Given the description of an element on the screen output the (x, y) to click on. 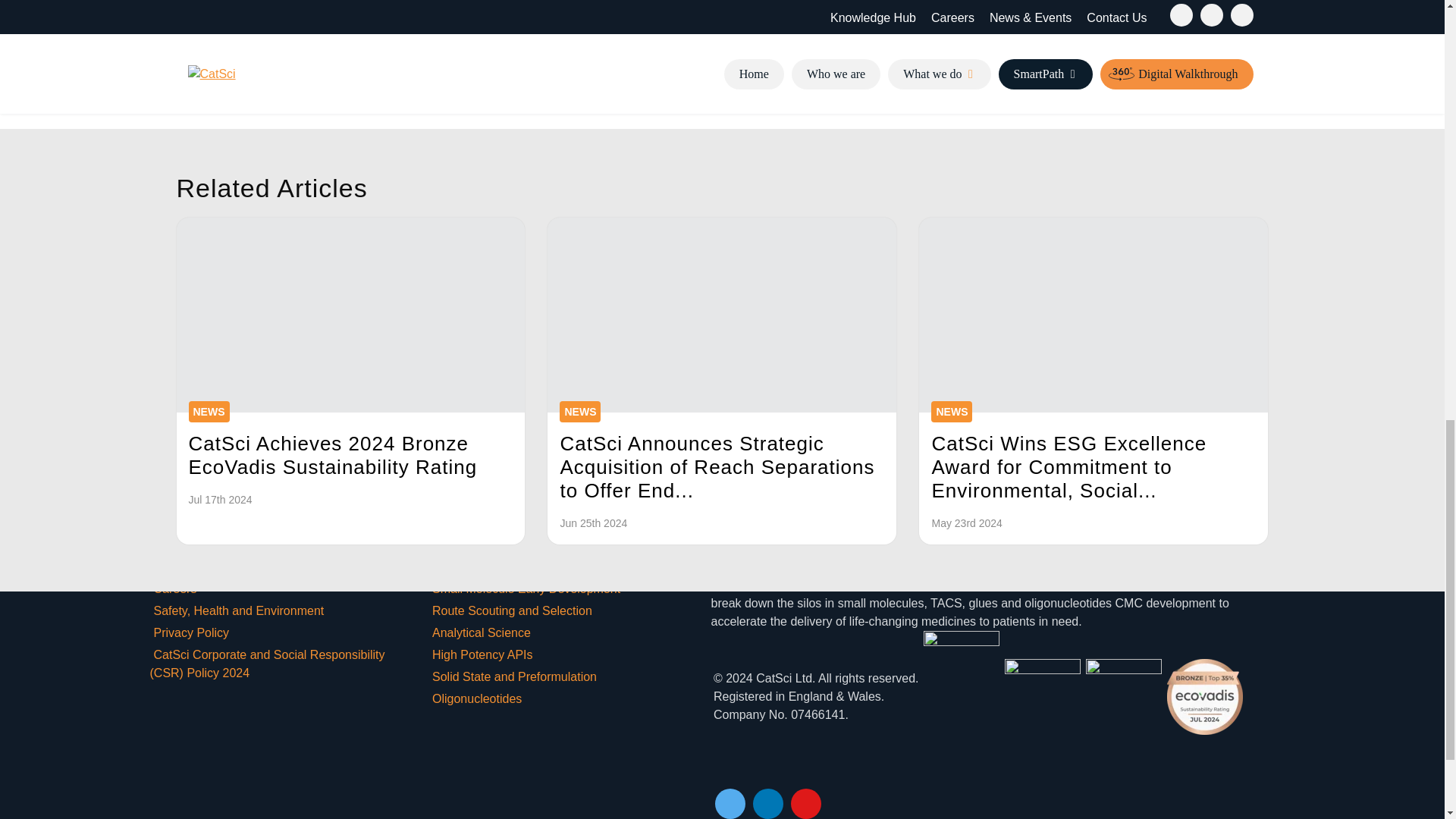
CatSci Achieves 2024 Bronze EcoVadis Sustainability Rating (350, 314)
here (416, 20)
Back to News (456, 68)
